Given the description of an element on the screen output the (x, y) to click on. 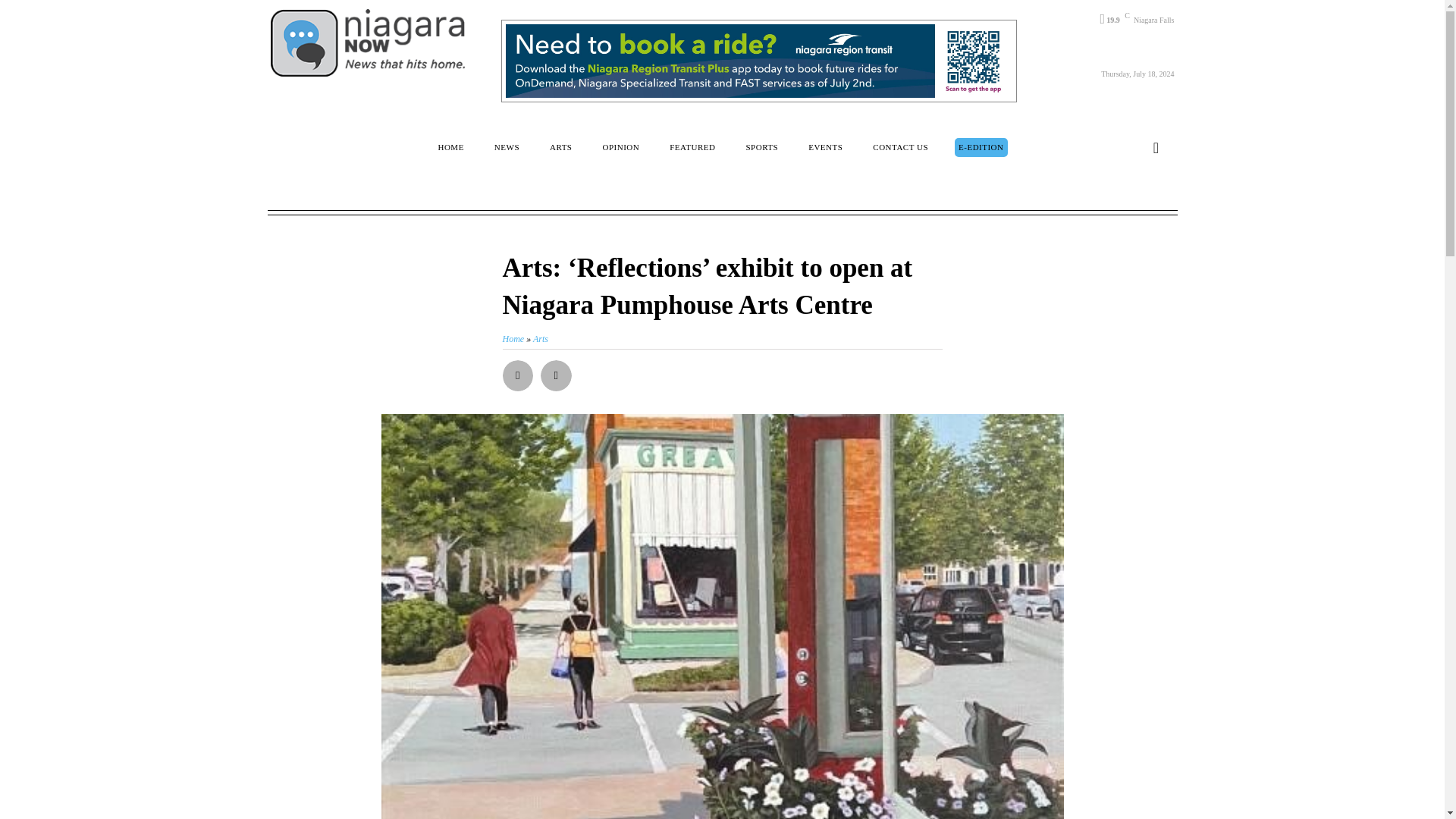
SPORTS (761, 147)
CONTACT US (900, 147)
NEWS (506, 147)
EVENTS (825, 147)
E-EDITION (981, 147)
HOME (450, 147)
OPINION (620, 147)
ARTS (560, 147)
FEATURED (692, 147)
